Given the description of an element on the screen output the (x, y) to click on. 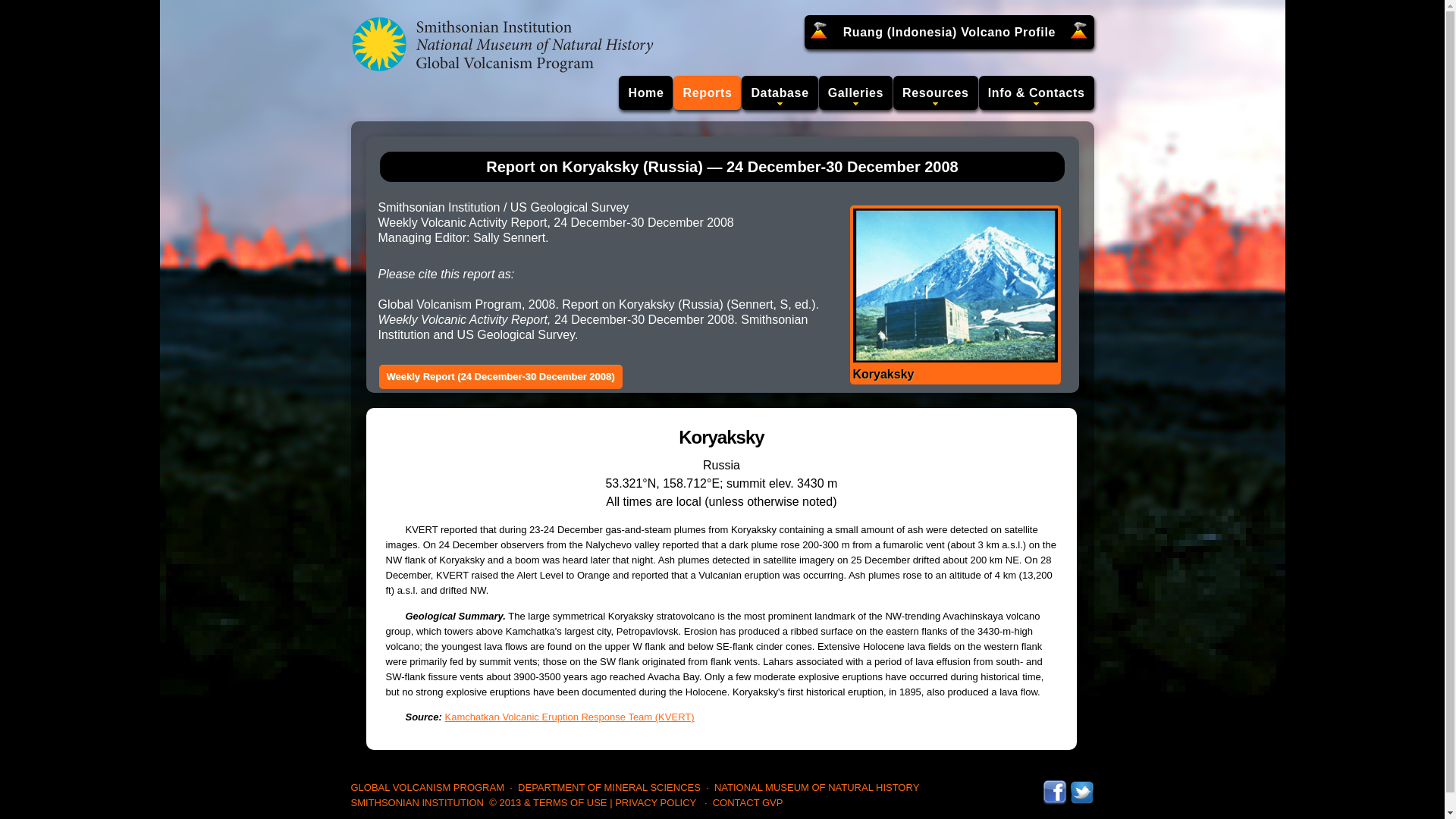
Database (778, 92)
Link to Privacy Notice (654, 802)
Twitter (1080, 787)
Facebook (1054, 787)
Reports (706, 92)
Galleries (855, 92)
Home (645, 92)
Link to Copyright Notice and Terms of Use (548, 802)
Send email to GVP (748, 802)
Resources (935, 92)
Koryaksky (954, 294)
